Given the description of an element on the screen output the (x, y) to click on. 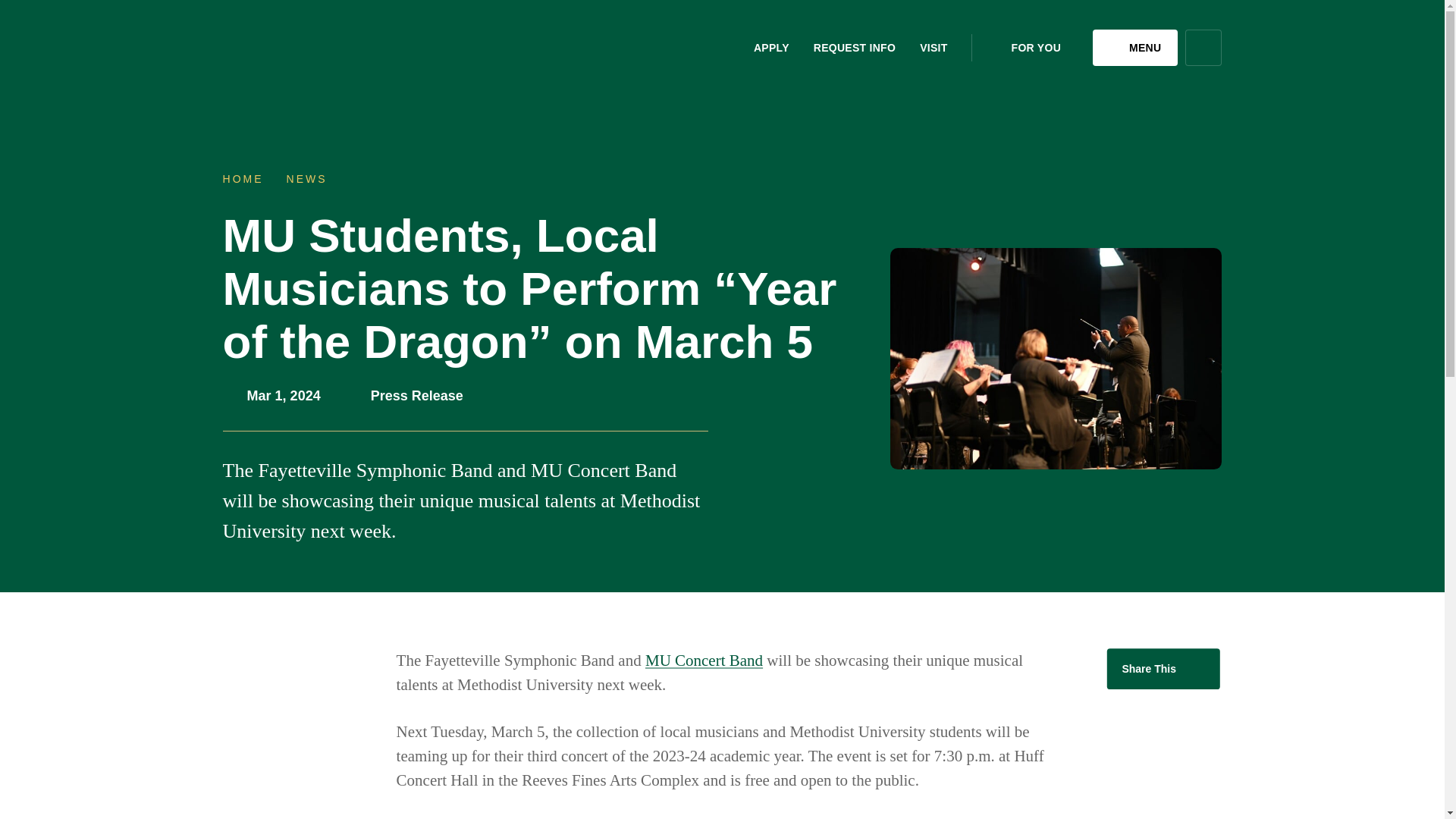
Search (1203, 47)
VISIT (933, 47)
Methodist University (326, 47)
REQUEST INFO (854, 47)
Share This (1163, 668)
MU Concert Band (703, 660)
NEWS (306, 179)
MENU (1135, 47)
FOR YOU (1033, 47)
Press Release (417, 395)
APPLY (770, 47)
HOME (242, 179)
